Given the description of an element on the screen output the (x, y) to click on. 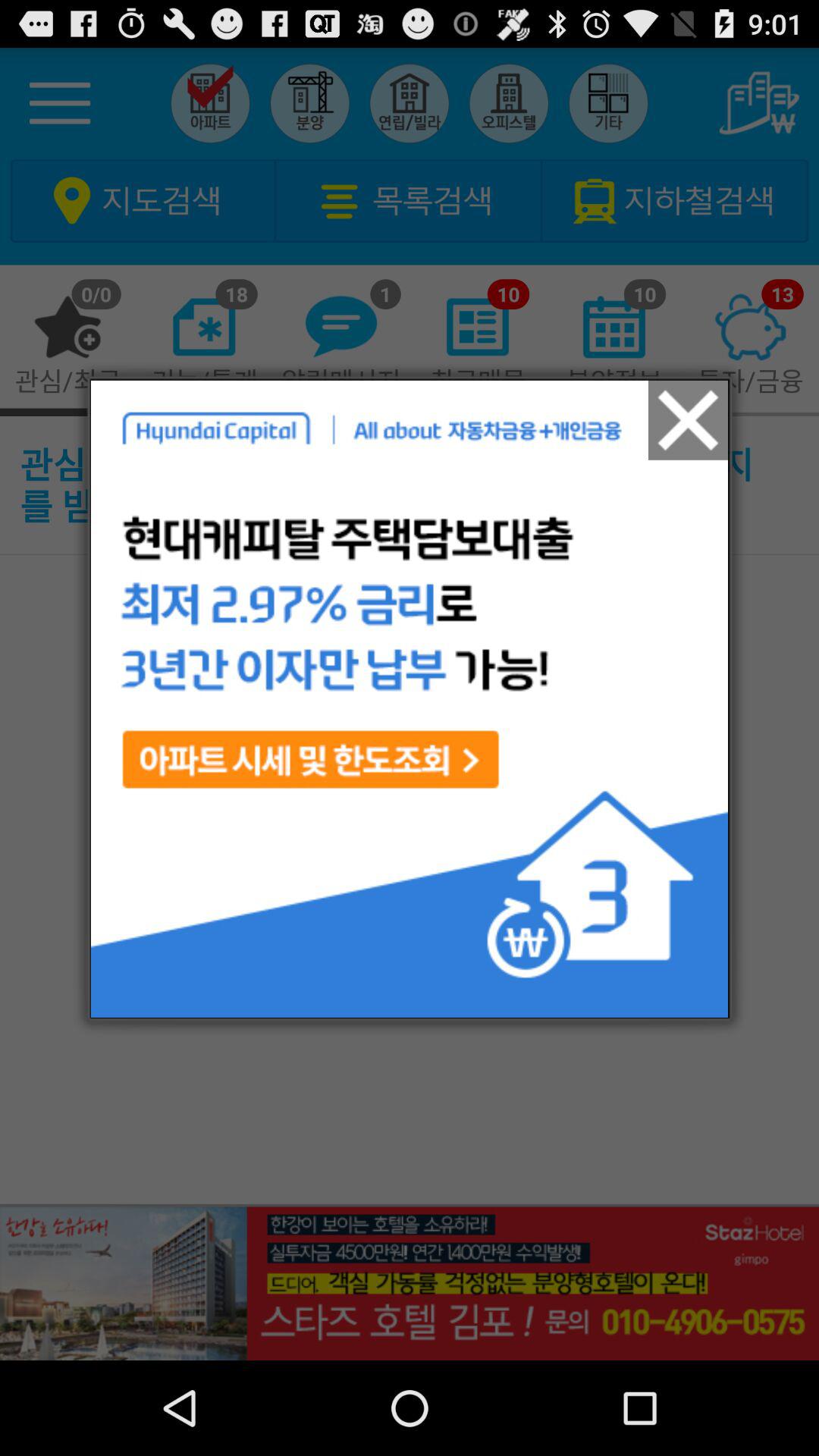
choose icon at the top right corner (688, 420)
